Given the description of an element on the screen output the (x, y) to click on. 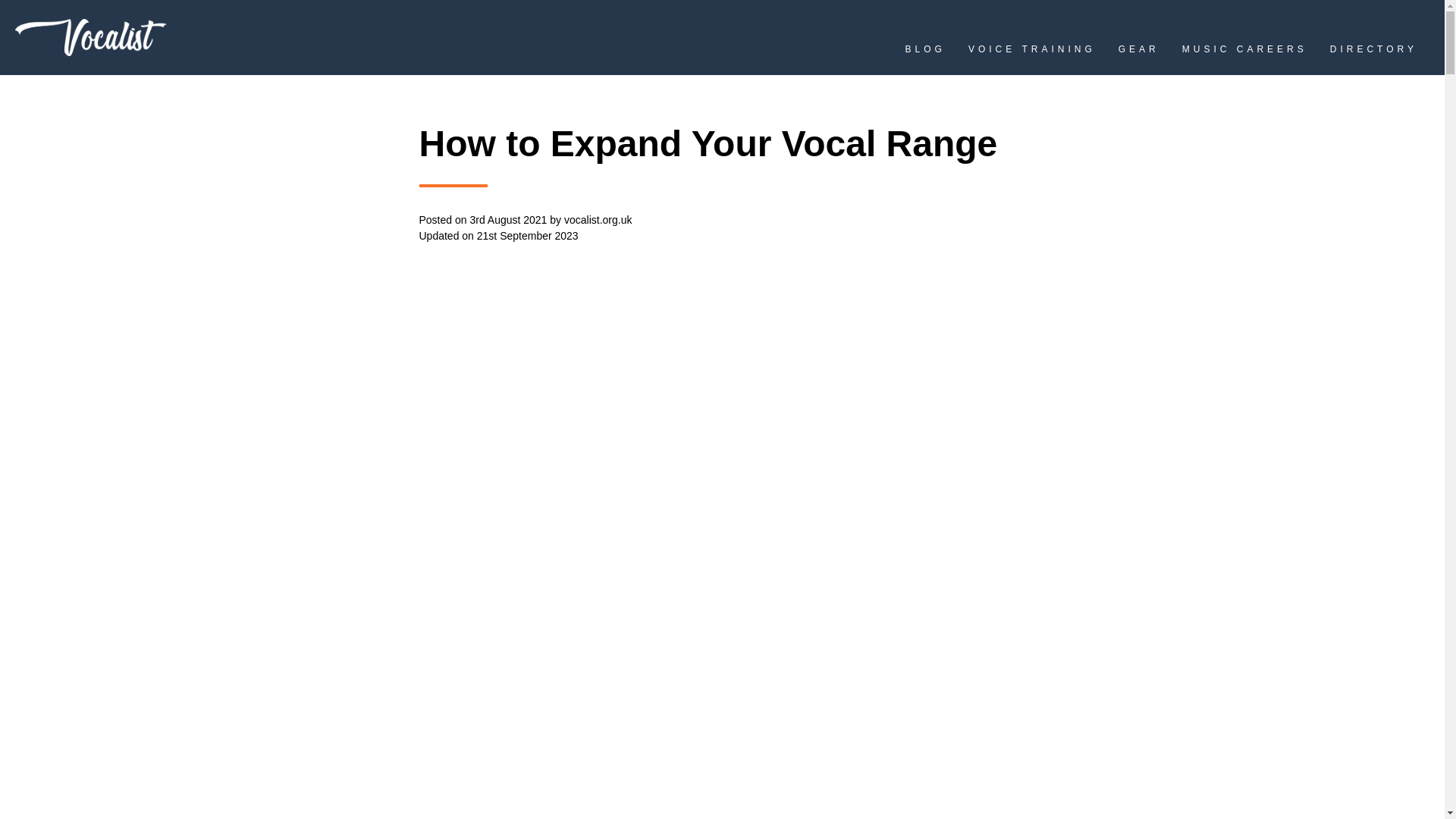
vocalist.org.uk (597, 219)
MUSIC CAREERS (1244, 52)
BLOG (924, 52)
DIRECTORY (1373, 52)
3rd August 2021 (507, 219)
VOICE TRAINING (1032, 52)
GEAR (1138, 52)
